Given the description of an element on the screen output the (x, y) to click on. 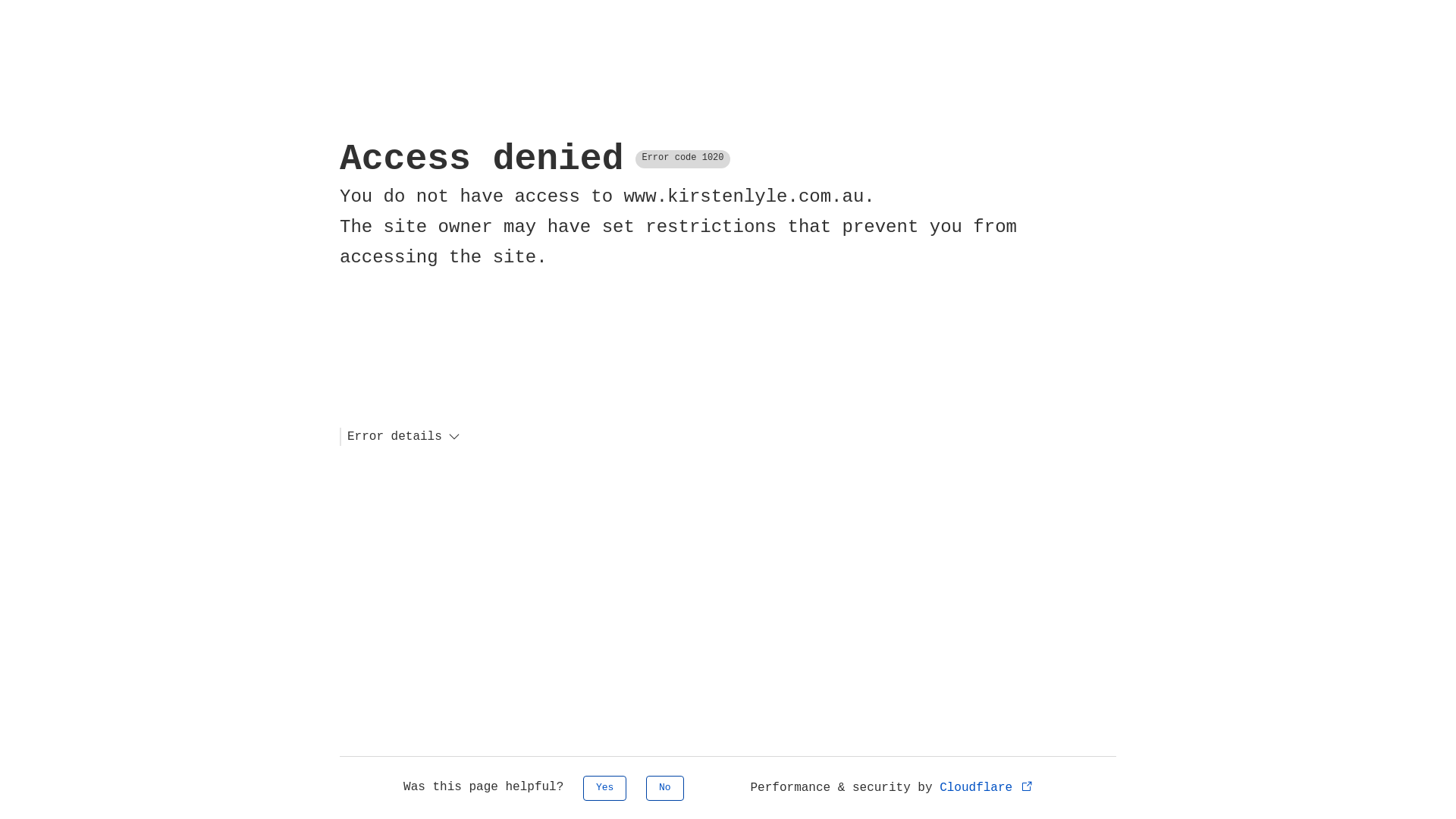
Opens in new tab Element type: hover (1027, 785)
Cloudflare Element type: text (986, 787)
Yes Element type: text (604, 787)
No Element type: text (665, 787)
